Given the description of an element on the screen output the (x, y) to click on. 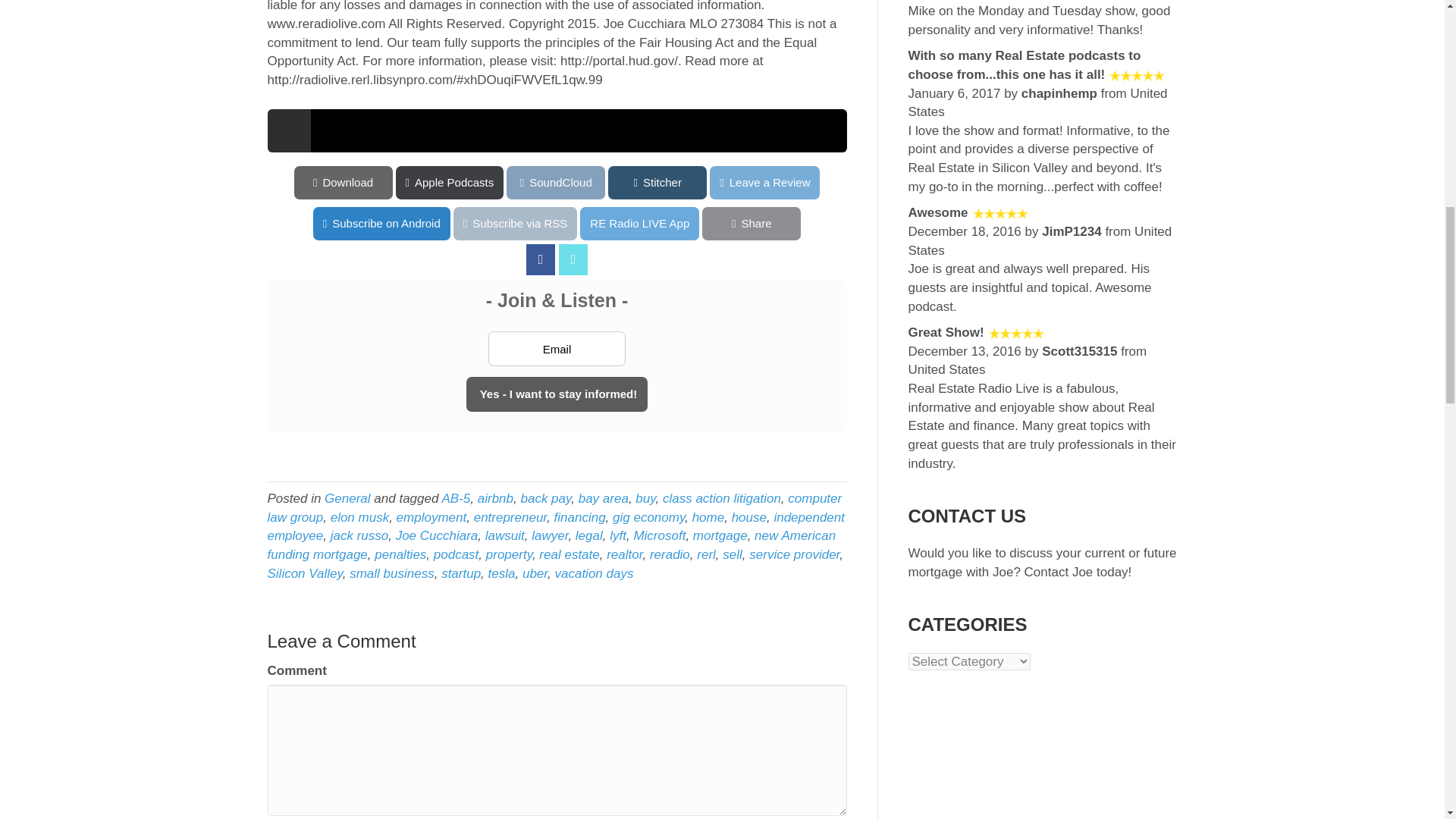
 Yes - I want to stay informed! (556, 393)
Share on Facebook (539, 259)
Share on Twitter (573, 259)
